Given the description of an element on the screen output the (x, y) to click on. 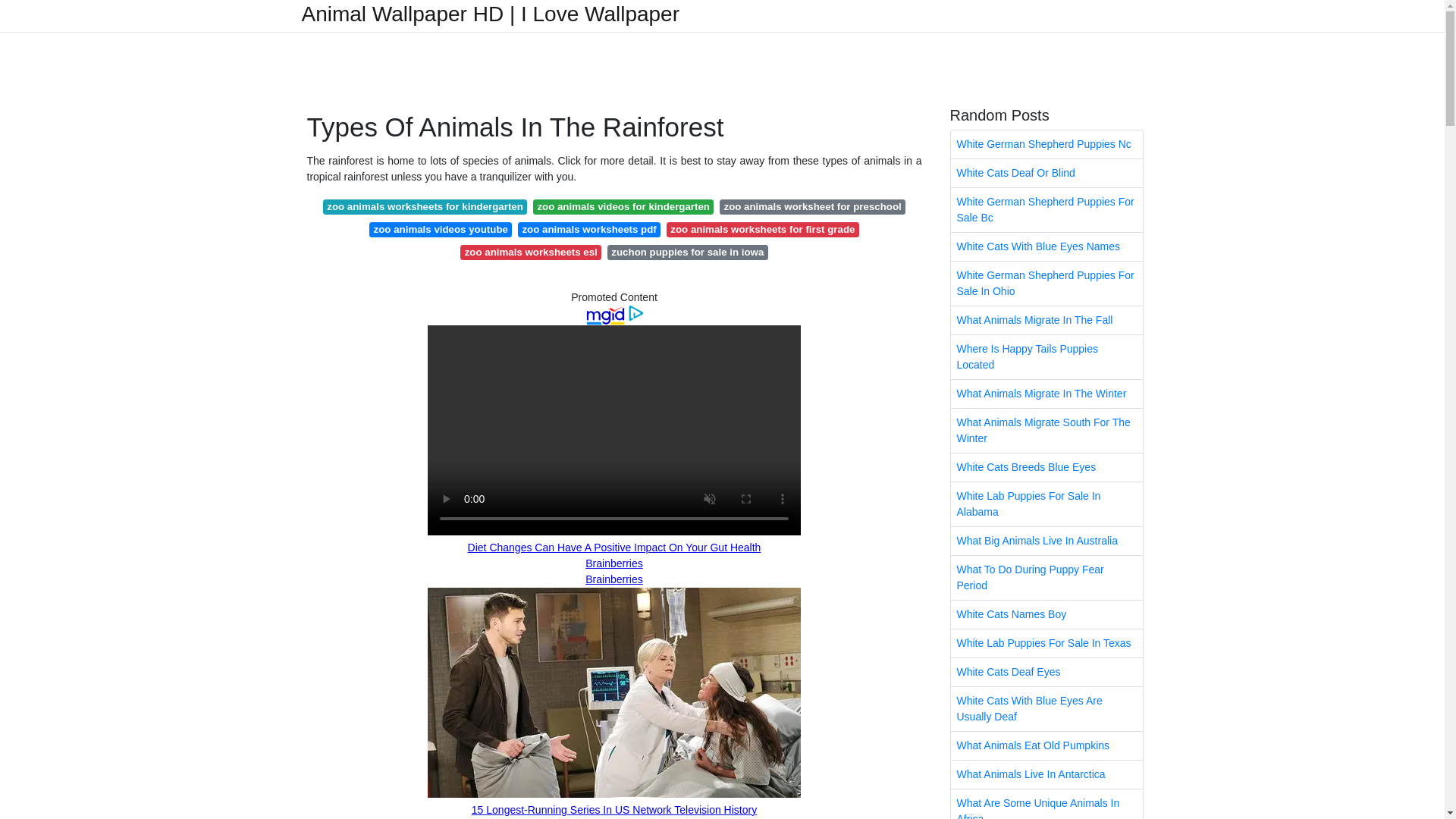
zoo animals worksheets pdf (589, 229)
zoo animals worksheets esl (530, 252)
zoo animals videos youtube (440, 229)
White Cats Breeds Blue Eyes (1046, 467)
zoo animals videos for kindergarten (622, 206)
zoo animals worksheet for preschool (812, 206)
What Animals Migrate In The Fall (1046, 320)
White German Shepherd Puppies For Sale In Ohio (1046, 283)
White German Shepherd Puppies For Sale Bc (1046, 209)
zoo animals worksheets for kindergarten (425, 206)
White German Shepherd Puppies Nc (1046, 144)
White Cats With Blue Eyes Names (1046, 246)
zuchon puppies for sale in iowa (687, 252)
Where Is Happy Tails Puppies Located (1046, 356)
What Animals Migrate In The Winter (1046, 393)
